Given the description of an element on the screen output the (x, y) to click on. 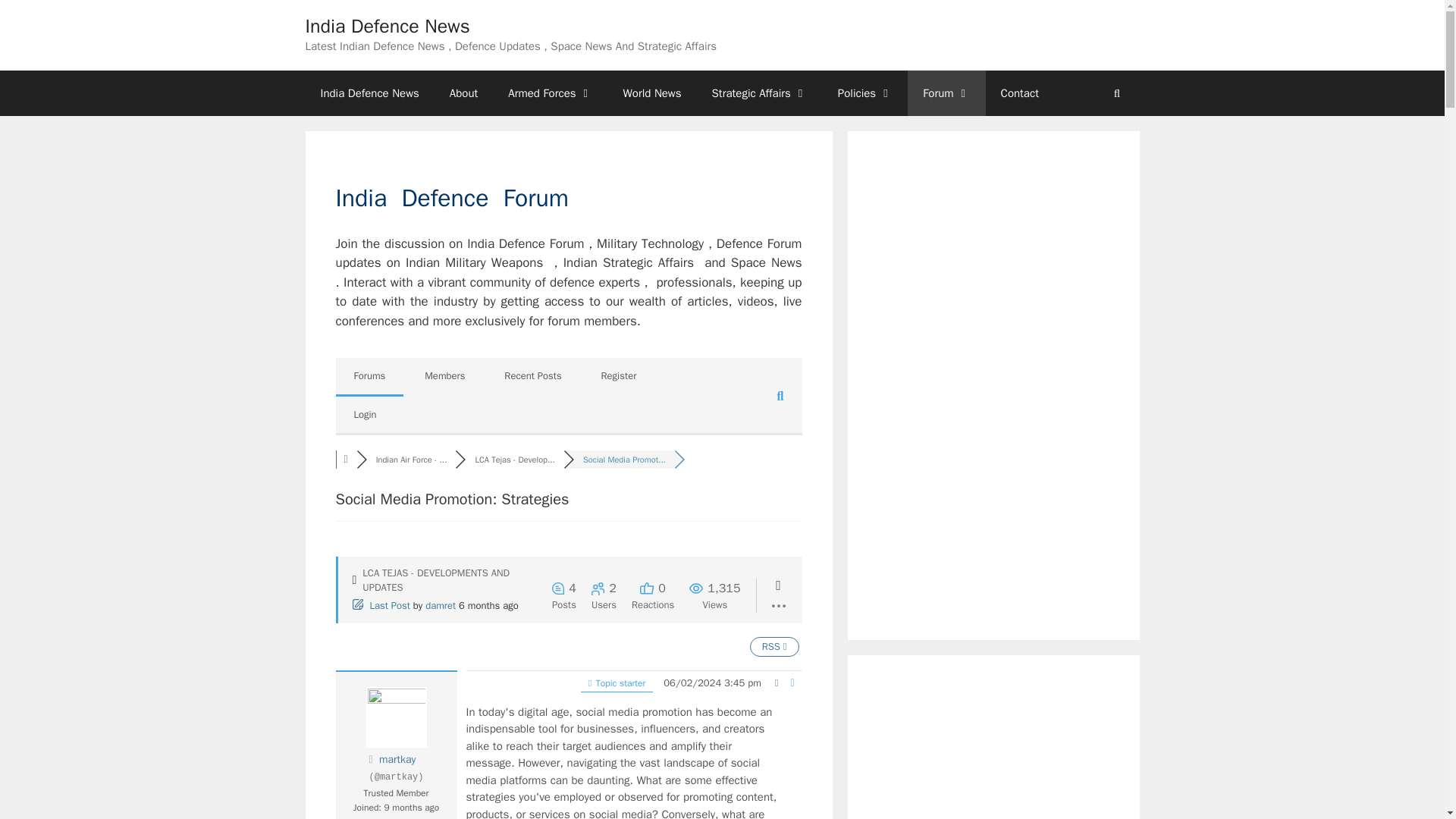
Policies (864, 92)
Topic RSS Feed (774, 646)
About (463, 92)
damret (440, 604)
martkay (396, 758)
Indian Air Force - Fighter Aircraft (410, 459)
Forums (345, 459)
India Defence News (386, 25)
Armed Forces (550, 92)
Rating Title (396, 793)
LCA Tejas - Developments And Updates (514, 459)
World News (652, 92)
Strategic Affairs (759, 92)
India Defence News (368, 92)
